Given the description of an element on the screen output the (x, y) to click on. 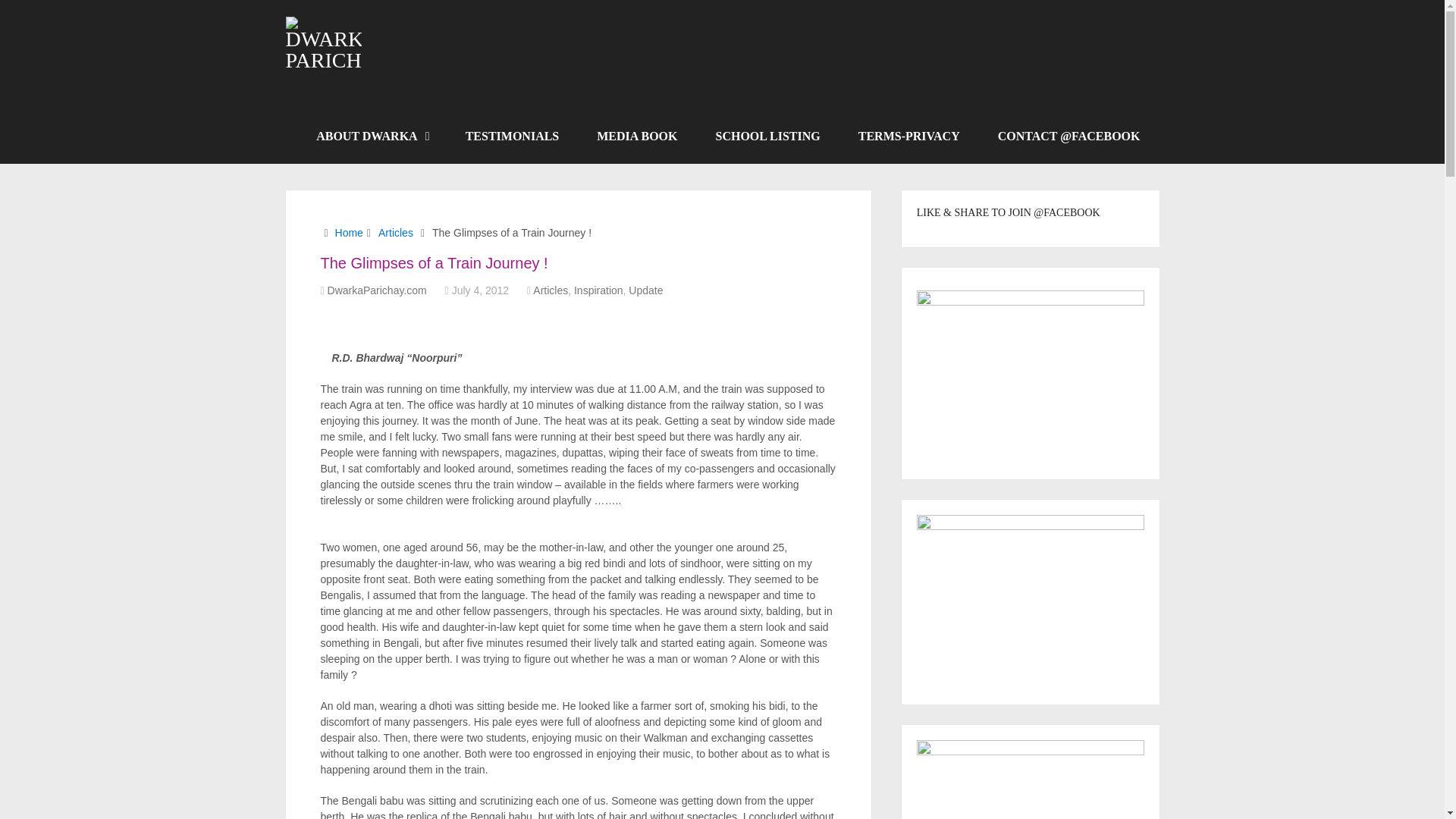
View all posts in Articles (549, 290)
View all posts in Update (645, 290)
Update (645, 290)
Posts by DwarkaParichay.com (376, 290)
Articles (395, 232)
TERMS-PRIVACY (909, 135)
TESTIMONIALS (512, 135)
Articles (549, 290)
Inspiration (598, 290)
MEDIA BOOK (636, 135)
ABOUT DWARKA (371, 135)
DwarkaParichay.com (376, 290)
Home (348, 232)
SCHOOL LISTING (766, 135)
View all posts in Inspiration (598, 290)
